Given the description of an element on the screen output the (x, y) to click on. 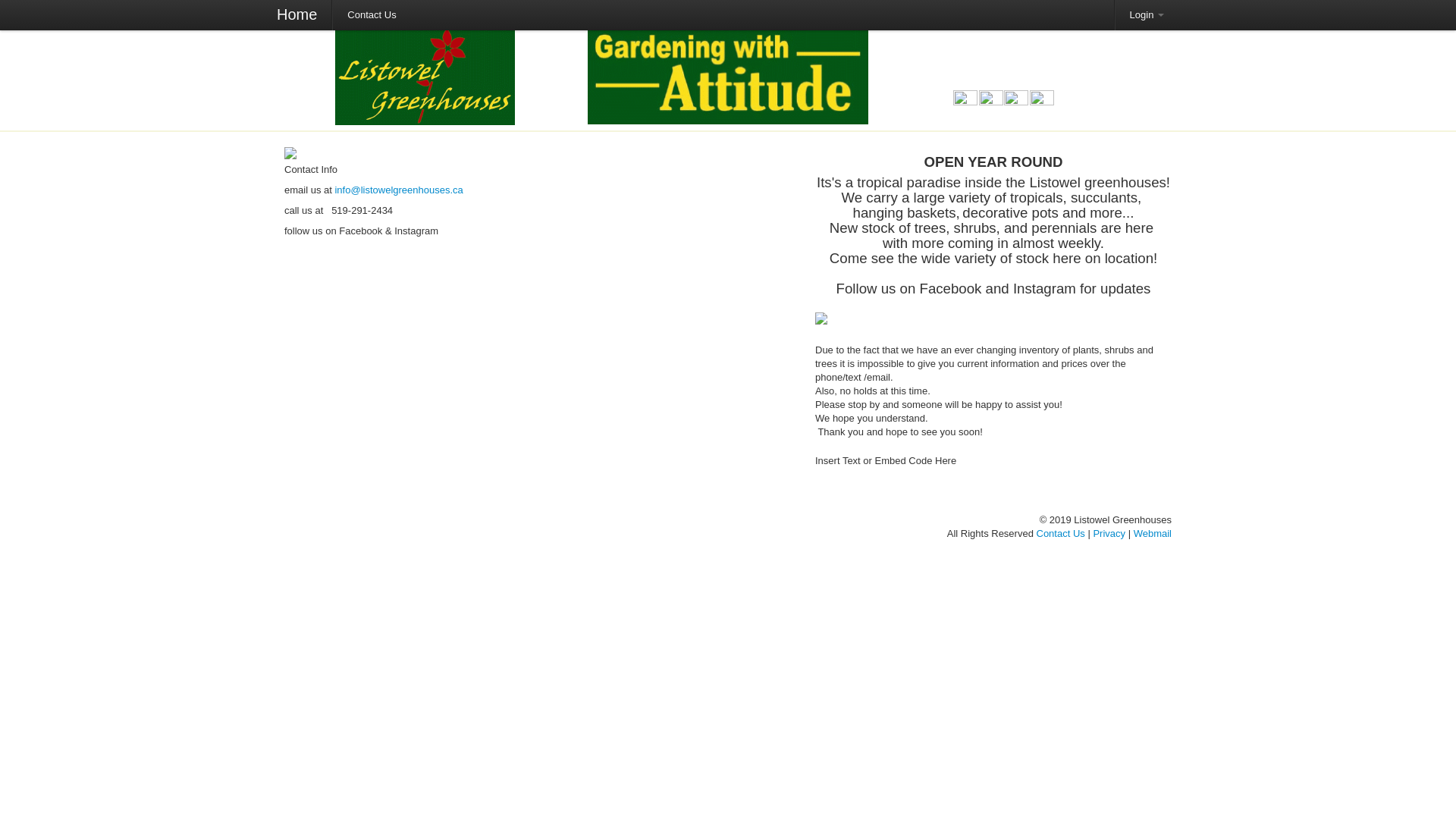
Webmail (1153, 532)
Home (296, 15)
Privacy (1109, 532)
Contact Us (371, 15)
Contact Us (1059, 532)
Login (1147, 15)
